Given the description of an element on the screen output the (x, y) to click on. 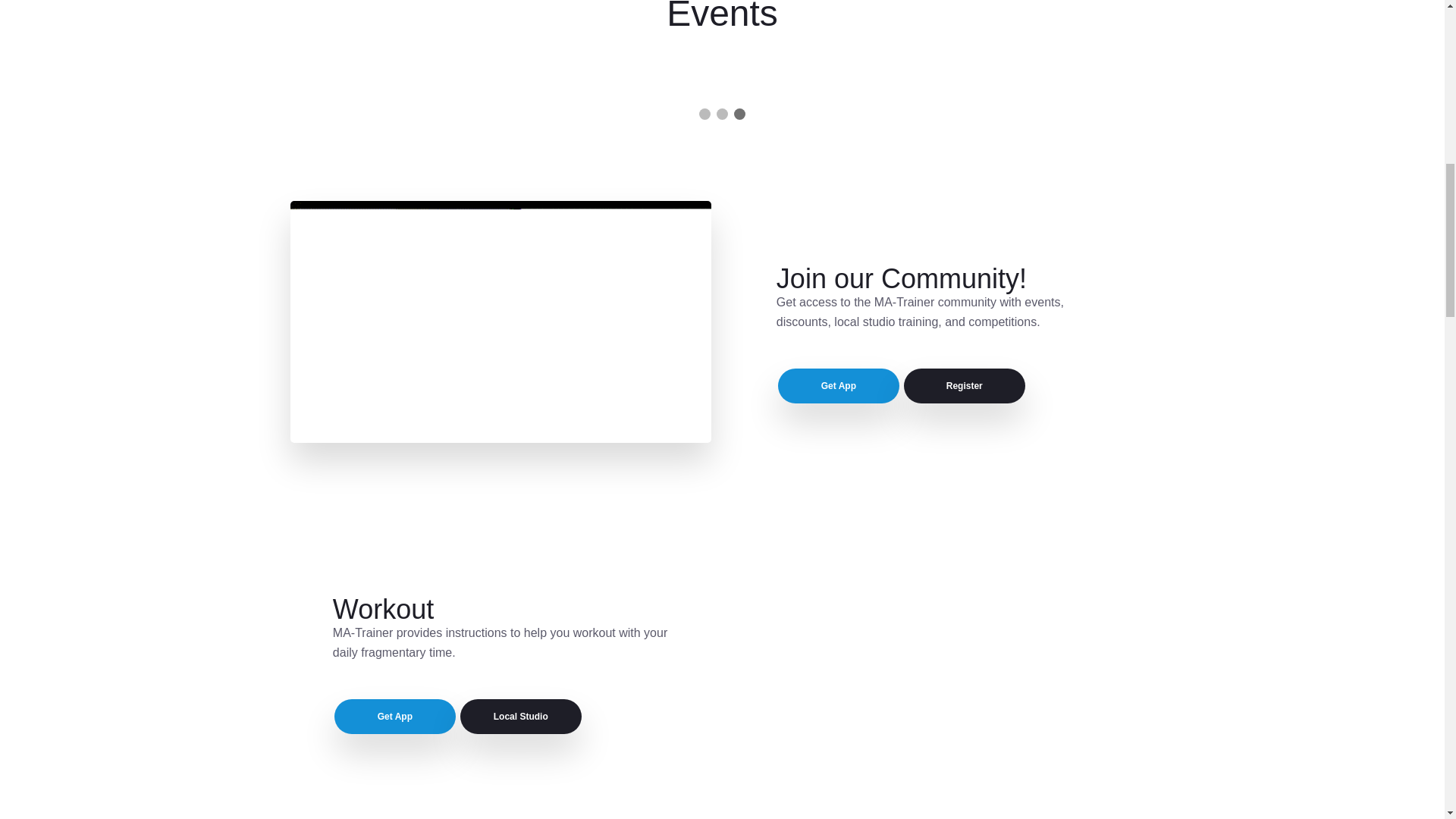
Get App (394, 716)
Register (964, 385)
Local Studio (520, 716)
Get App (838, 385)
